Given the description of an element on the screen output the (x, y) to click on. 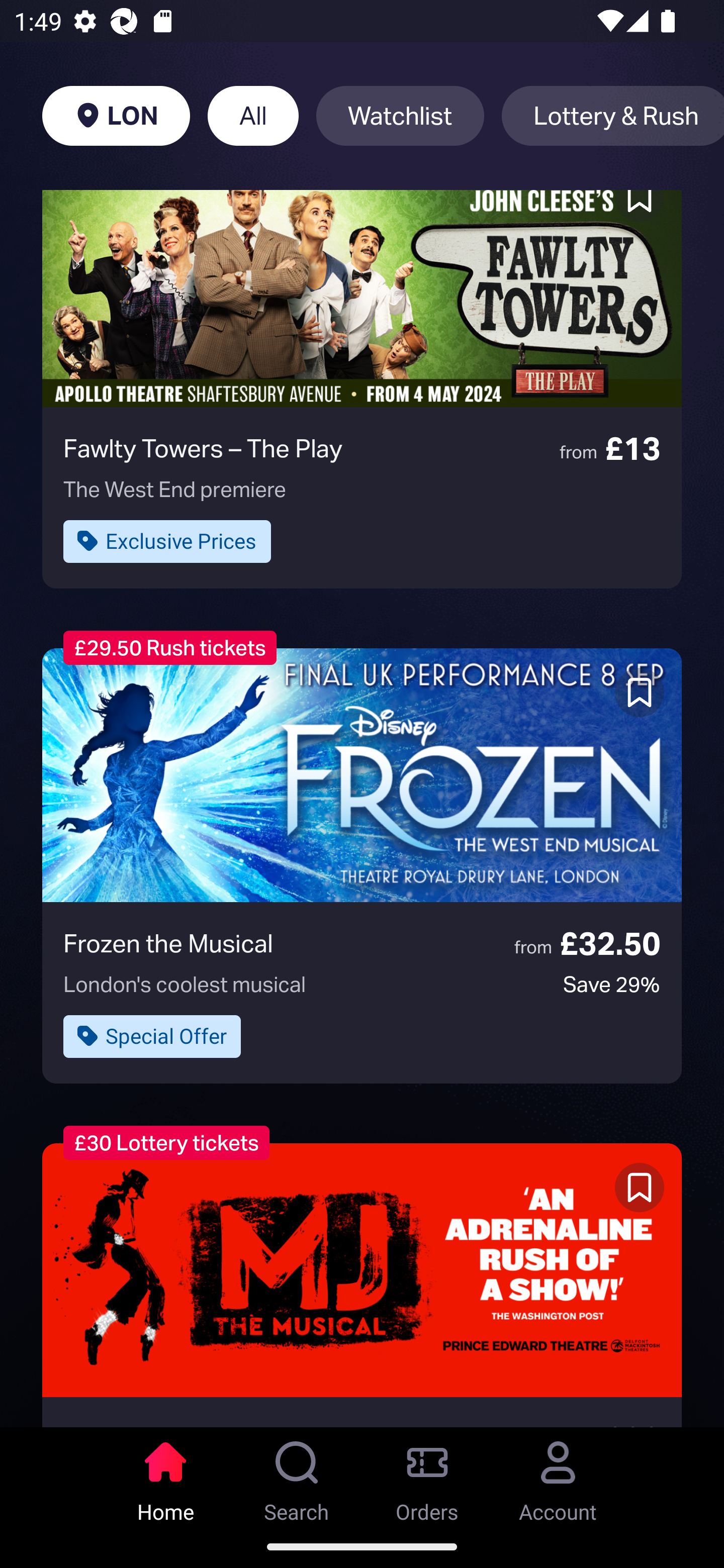
LON (115, 115)
All (252, 115)
Watchlist (400, 115)
Lottery & Rush (612, 115)
MJ The Musical £23 (361, 1284)
Search (296, 1475)
Orders (427, 1475)
Account (558, 1475)
